Given the description of an element on the screen output the (x, y) to click on. 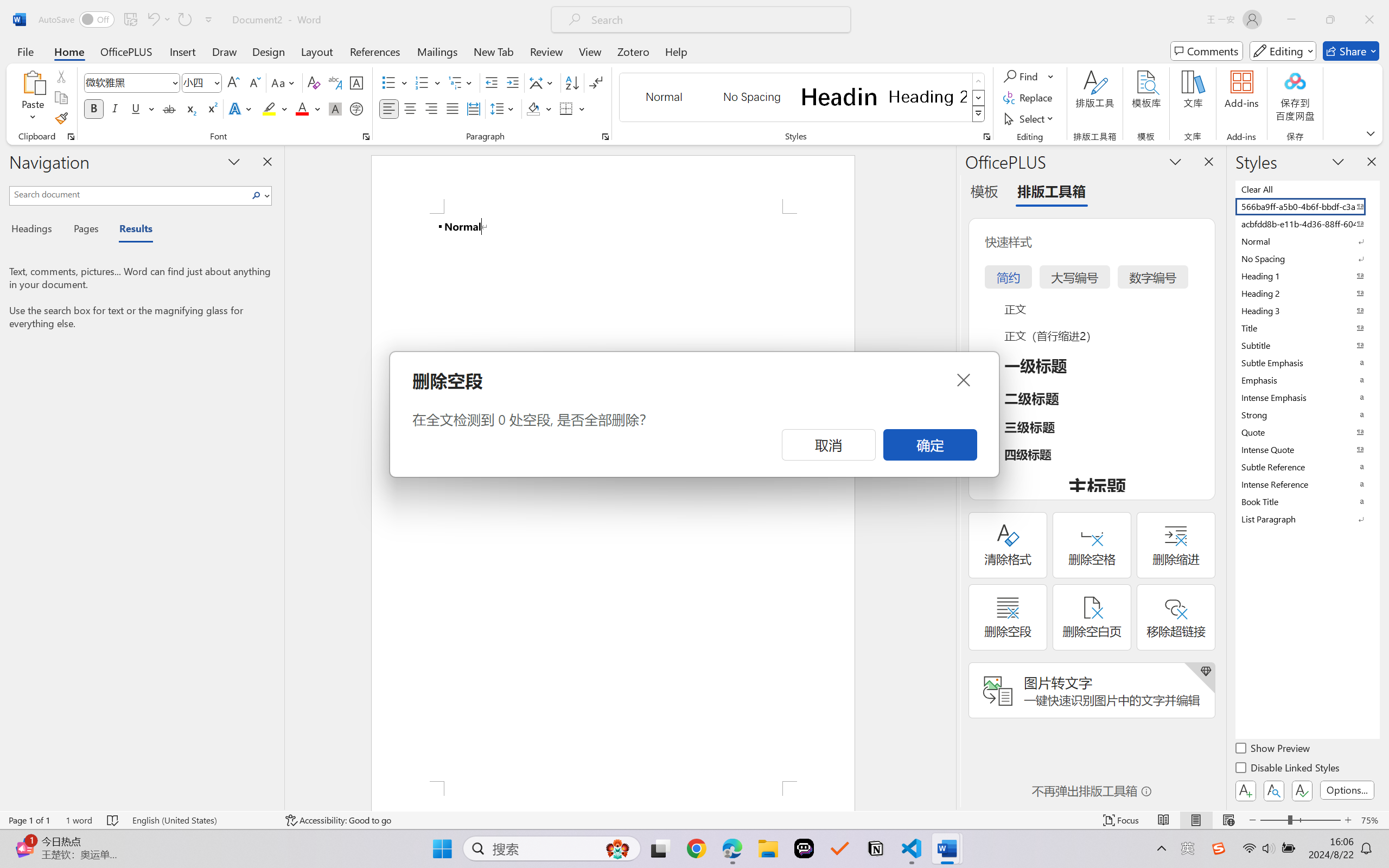
Title (1306, 327)
Pages (85, 229)
Center (409, 108)
OfficePLUS (126, 51)
Print Layout (1196, 819)
Superscript (210, 108)
Comments (1206, 50)
Styles... (986, 136)
Review (546, 51)
Language English (United States) (201, 819)
Sort... (571, 82)
